Given the description of an element on the screen output the (x, y) to click on. 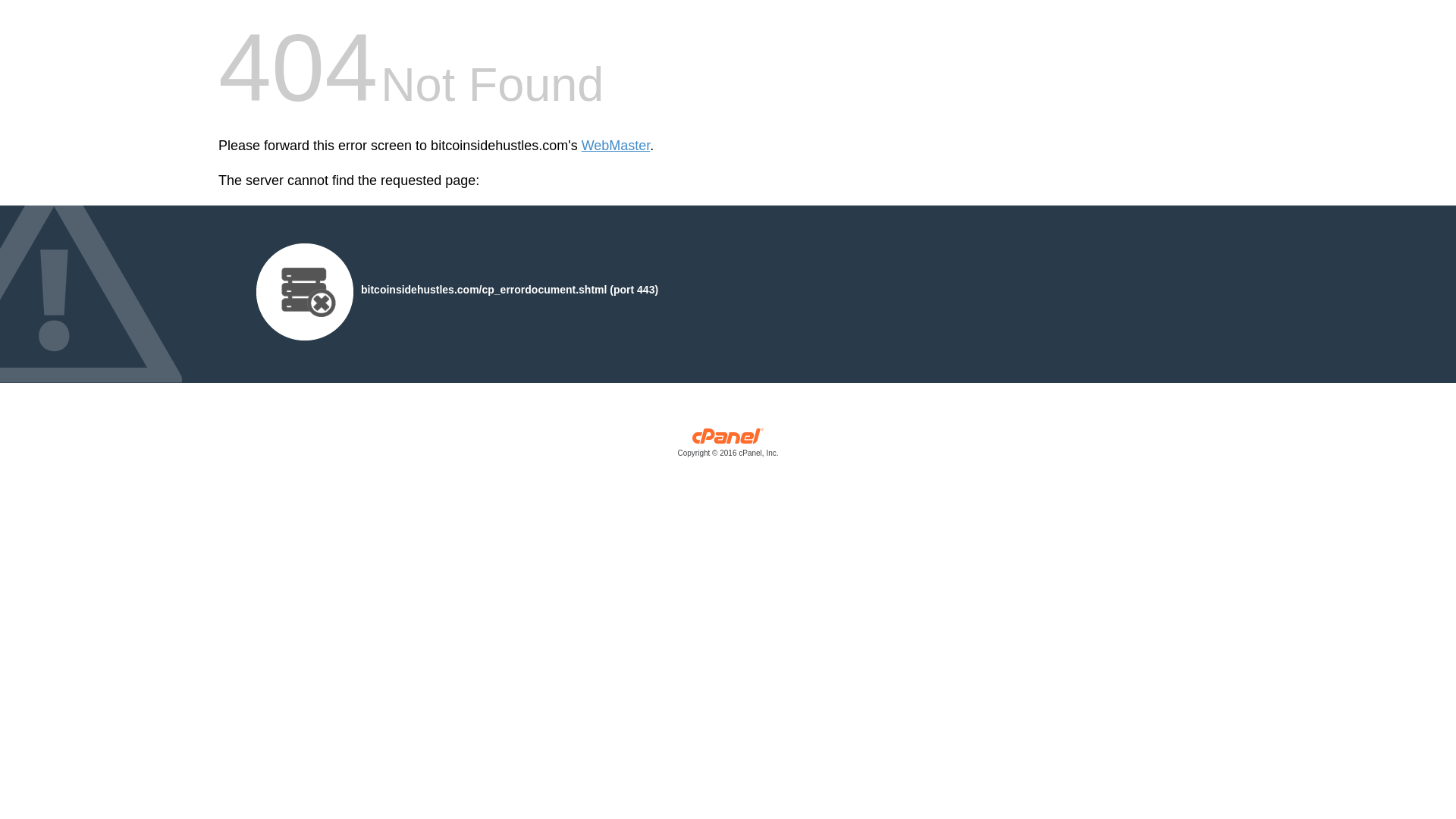
cPanel, Inc. (727, 446)
WebMaster (615, 145)
